Given the description of an element on the screen output the (x, y) to click on. 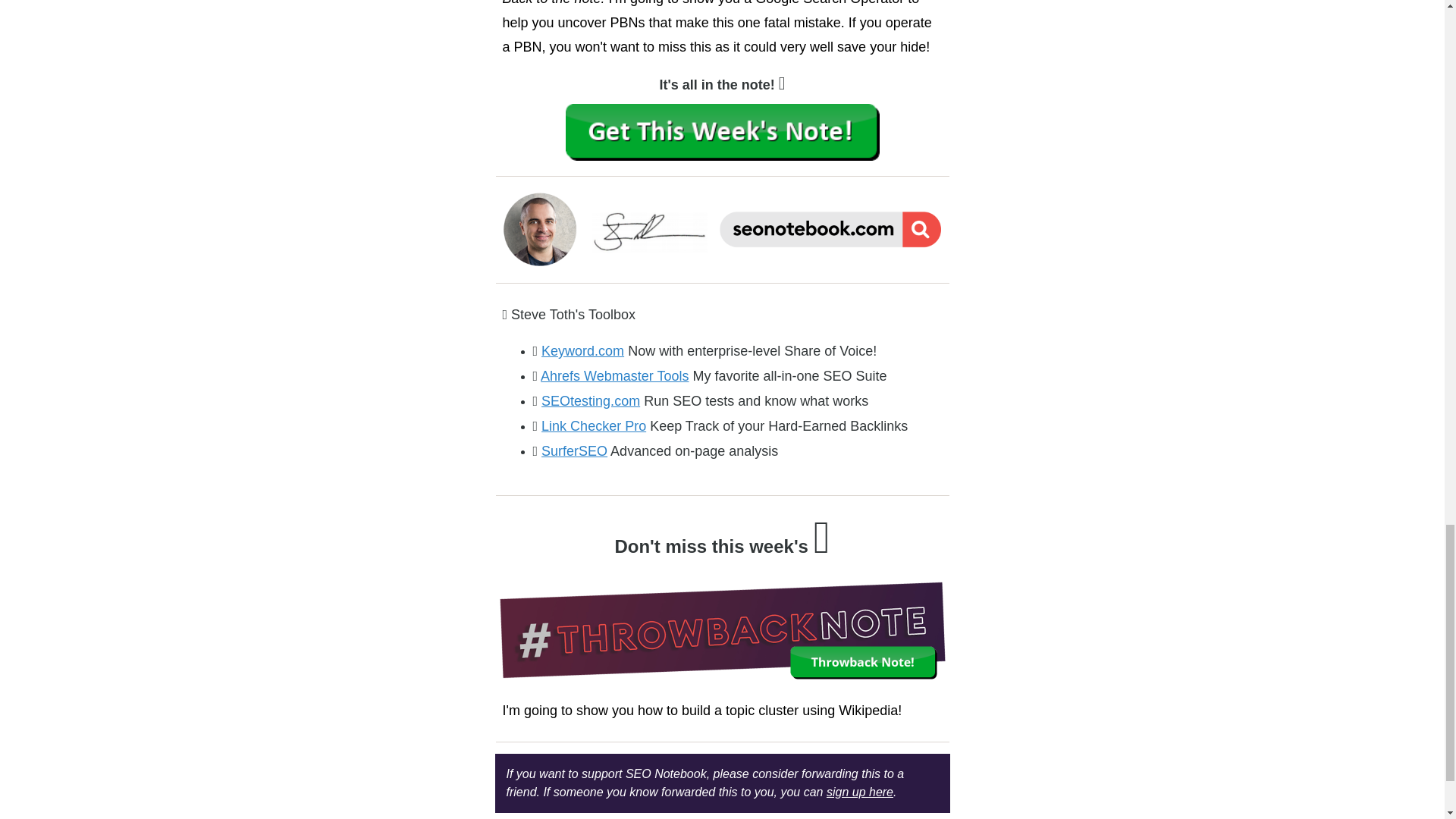
Link Checker Pro (593, 426)
sign up here (860, 791)
Ahrefs Webmaster Tools (614, 376)
SurferSEO (574, 450)
SEOtesting.com (590, 400)
Keyword.com (582, 350)
